Given the description of an element on the screen output the (x, y) to click on. 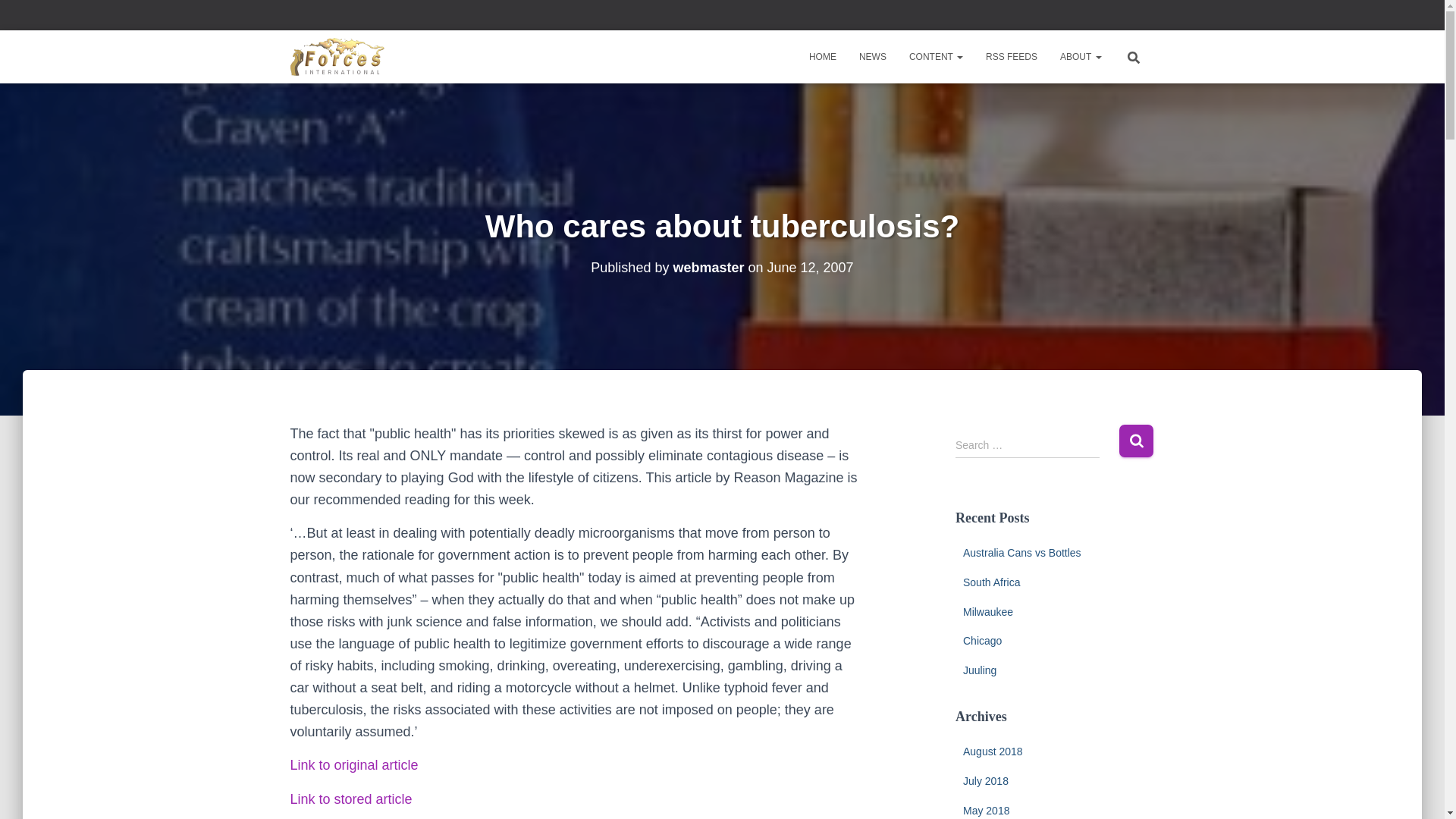
South Africa (991, 582)
May 2018 (985, 810)
RSS Feeds (1011, 56)
August 2018 (992, 751)
Content (936, 56)
webmaster (708, 267)
Milwaukee (987, 612)
Search (1136, 441)
July 2018 (985, 780)
Search (1136, 441)
Juuling (978, 670)
About (1080, 56)
News (872, 56)
Link to original article (353, 765)
Home (822, 56)
